Given the description of an element on the screen output the (x, y) to click on. 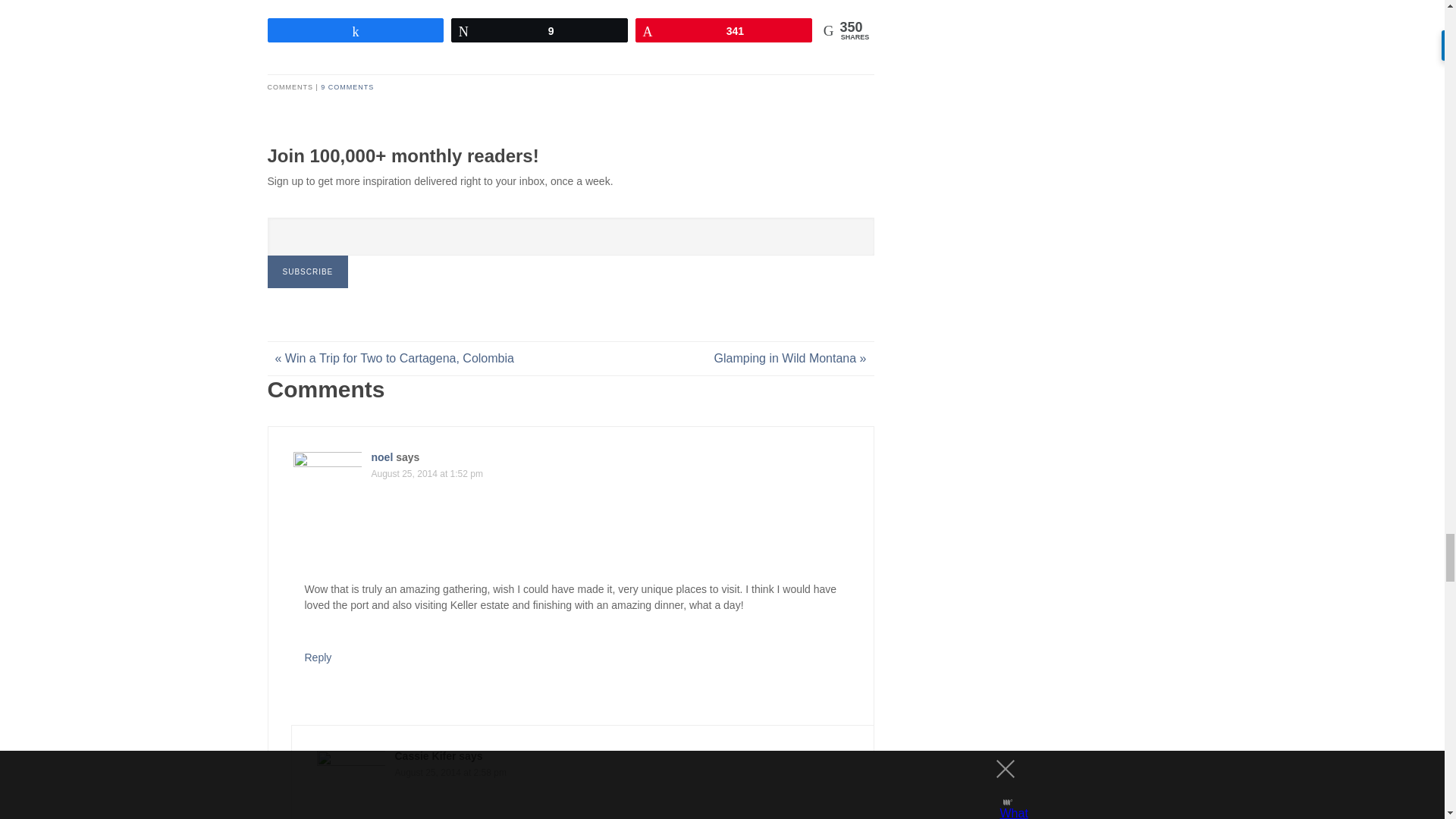
341 (723, 29)
Subscribe (306, 271)
9 COMMENTS (347, 86)
Subscribe (306, 271)
9 (539, 29)
August 25, 2014 at 1:52 pm (427, 473)
noel (382, 457)
